Given the description of an element on the screen output the (x, y) to click on. 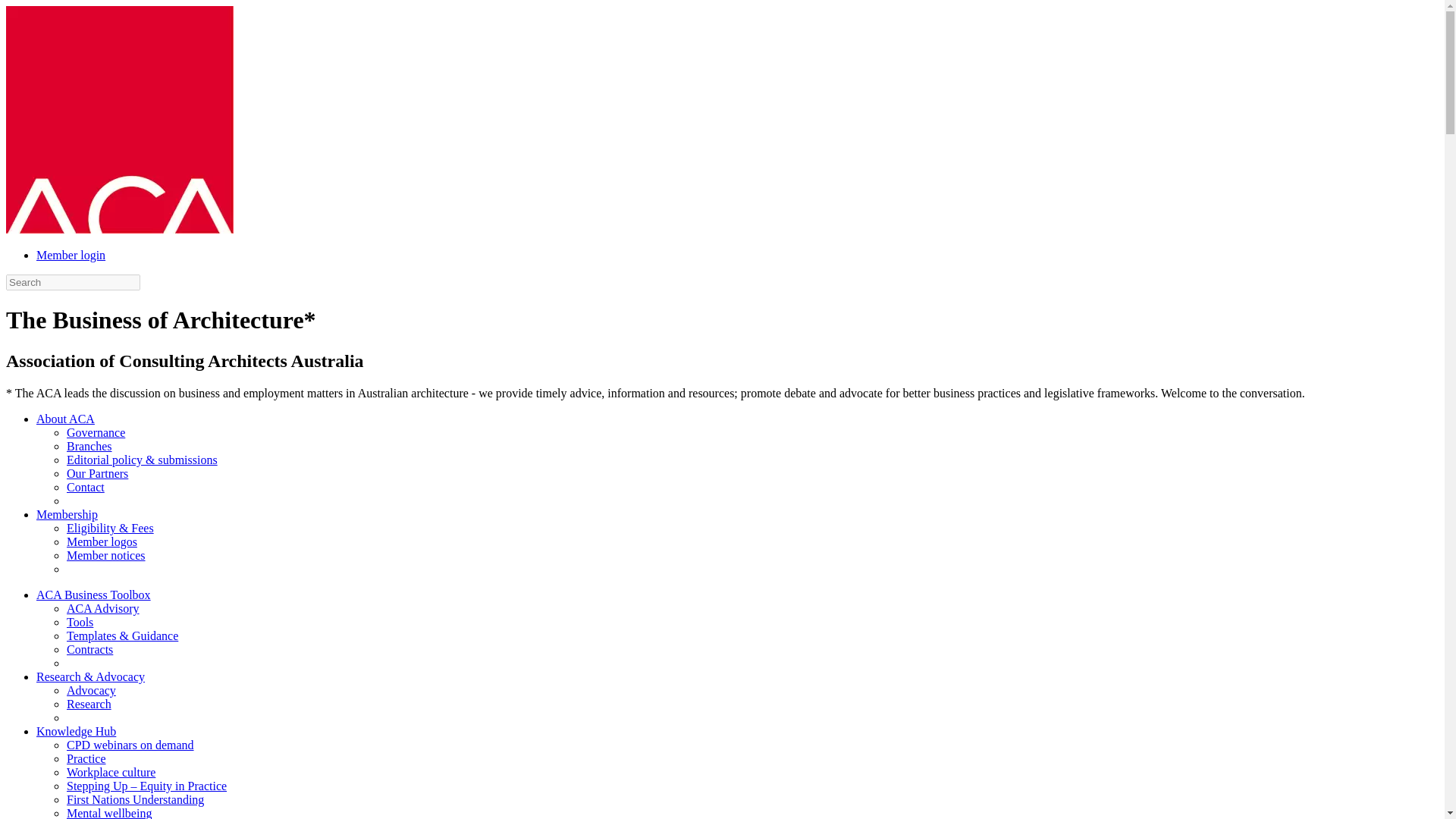
Governance (95, 431)
ACA Advisory (102, 608)
Workplace culture (110, 771)
Member login (70, 254)
About ACA (65, 418)
Contracts (89, 649)
Research (89, 703)
CPD webinars on demand (129, 744)
Branches (89, 445)
Mental wellbeing (108, 812)
